Given the description of an element on the screen output the (x, y) to click on. 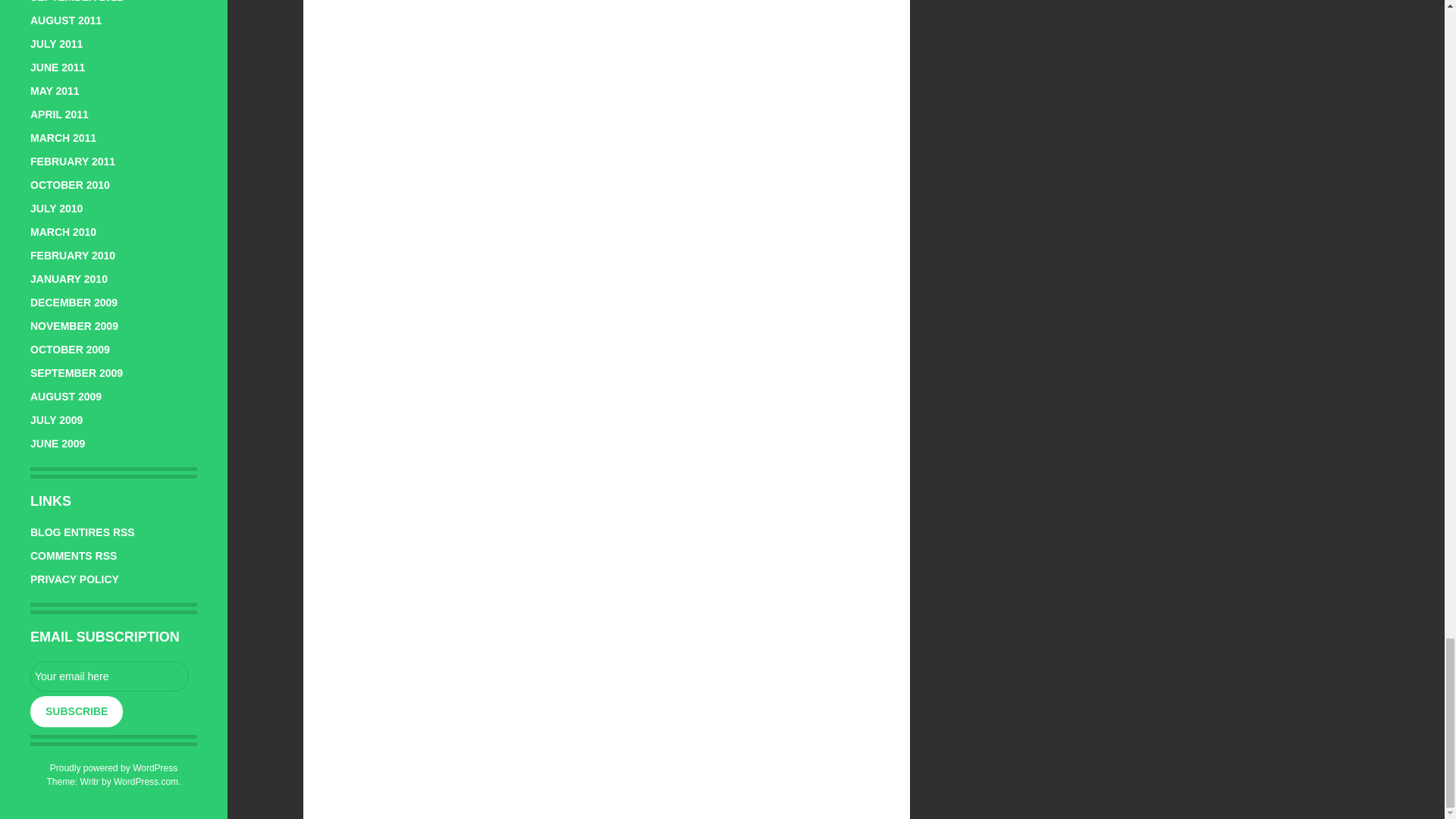
Your email here (109, 675)
Your email here (109, 675)
A Semantic Personal Publishing Platform (113, 767)
